Given the description of an element on the screen output the (x, y) to click on. 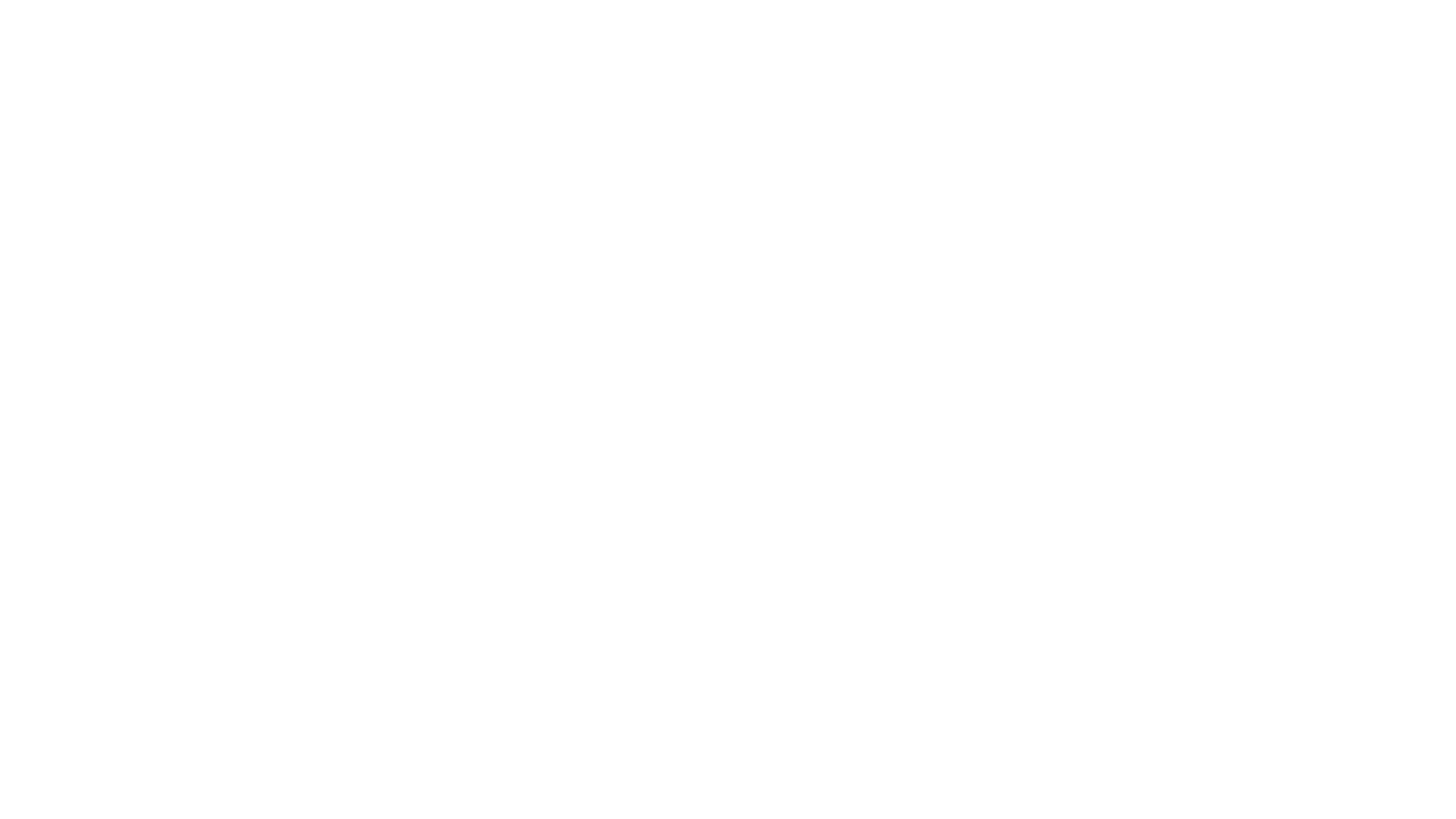
Page 1 Element type: text (61, 71)
